Given the description of an element on the screen output the (x, y) to click on. 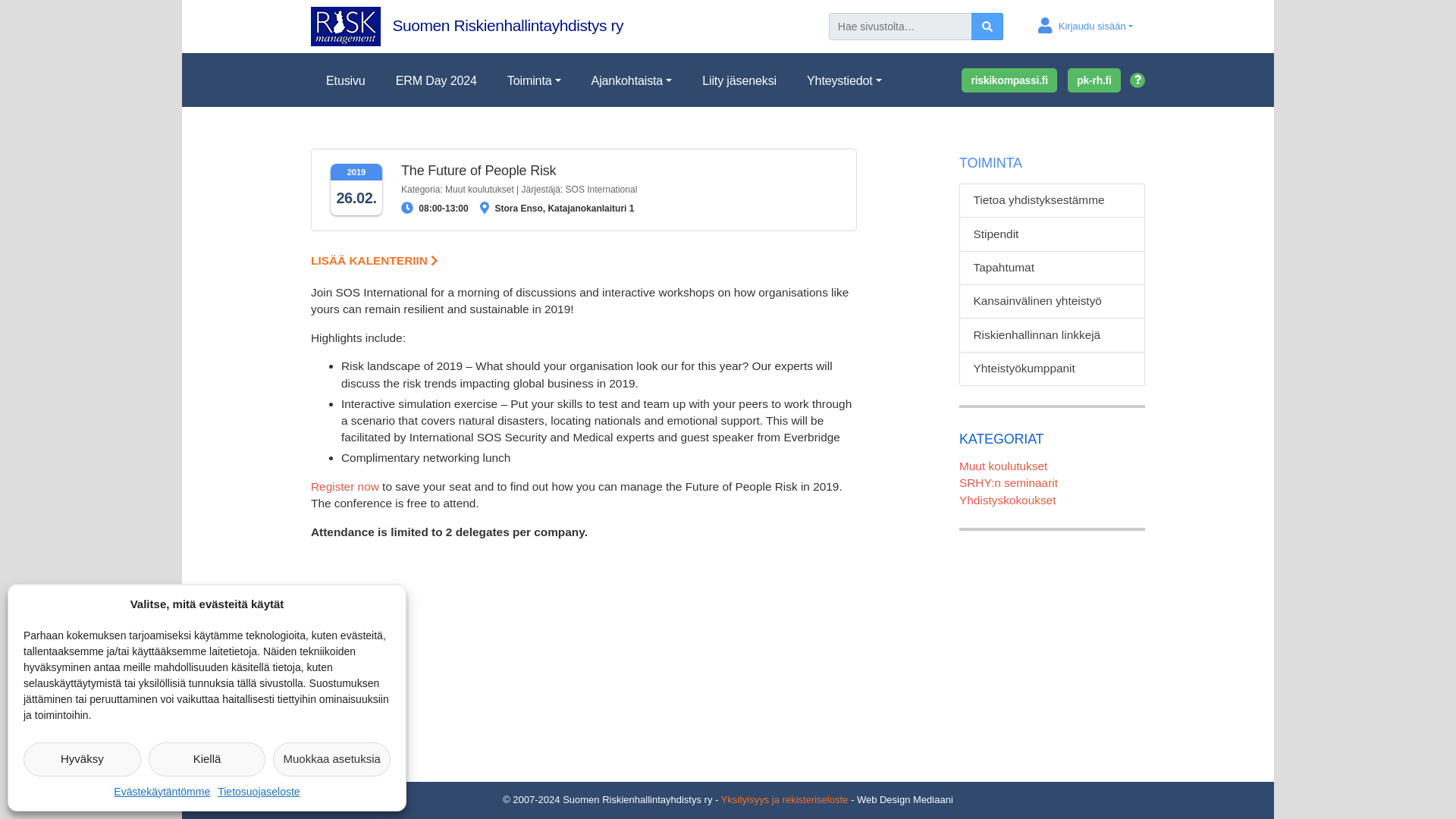
Ajankohtaista (631, 80)
Suomen Riskienhallintayhdistys ry (467, 25)
Etusivu (345, 80)
Yhteystiedot (844, 80)
Suomen Riskienhallintayhdistys ry (467, 25)
Web Designer, Helsinki (905, 799)
Toiminta (534, 80)
ERM Day 2024 (436, 80)
Muokkaa asetuksia (331, 759)
Tietosuojaseloste (257, 791)
Yksityisyyden periaatteet ja rekisteriseloste (784, 799)
riskikompassi.fi (1008, 79)
